Given the description of an element on the screen output the (x, y) to click on. 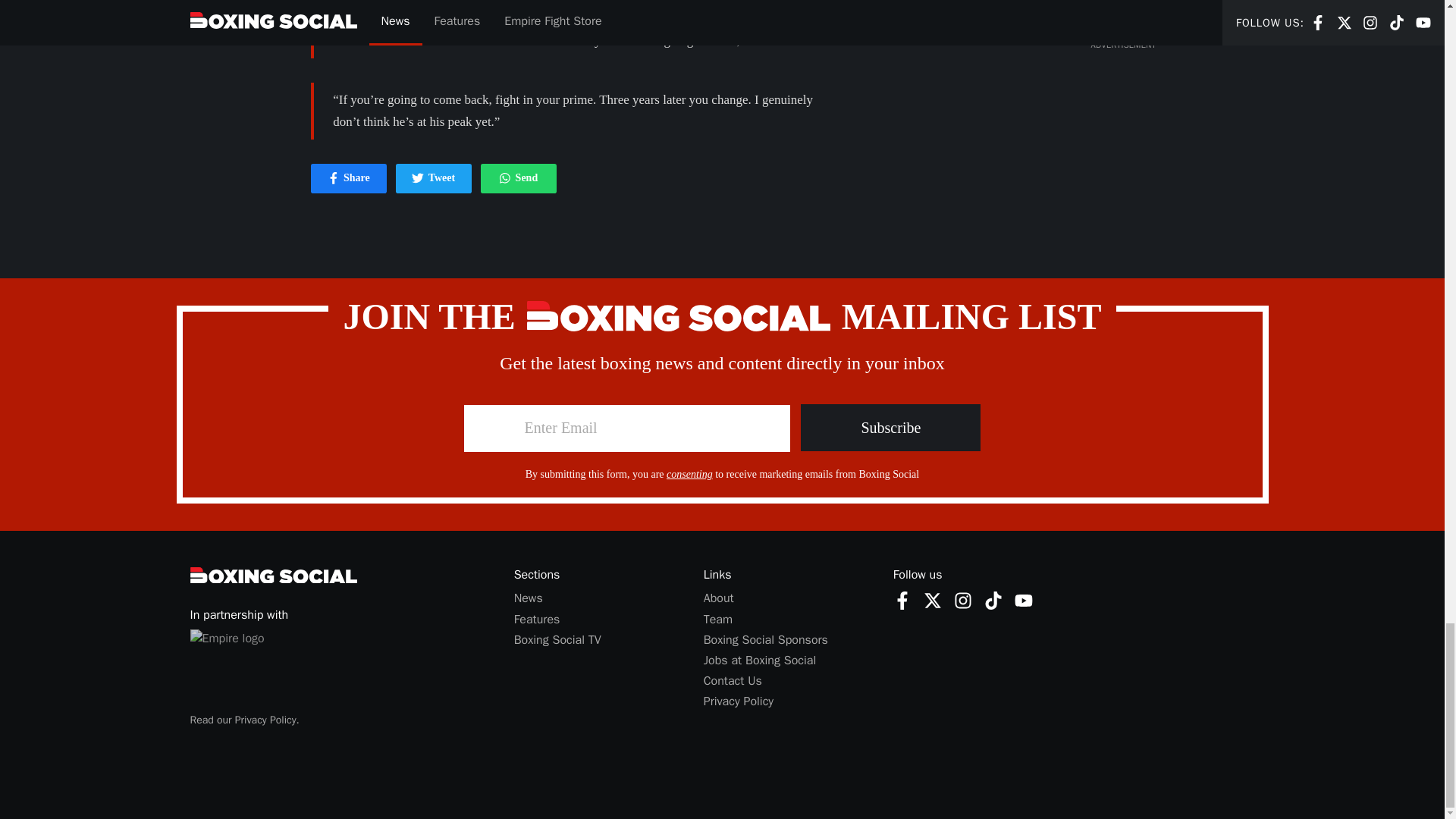
Subscribe (1023, 599)
About (902, 599)
Privacy Policy (889, 427)
Features (993, 599)
Facebook (349, 178)
Contact Us (962, 599)
Instagram (718, 598)
Facebook (738, 701)
Twitter (536, 618)
